Given the description of an element on the screen output the (x, y) to click on. 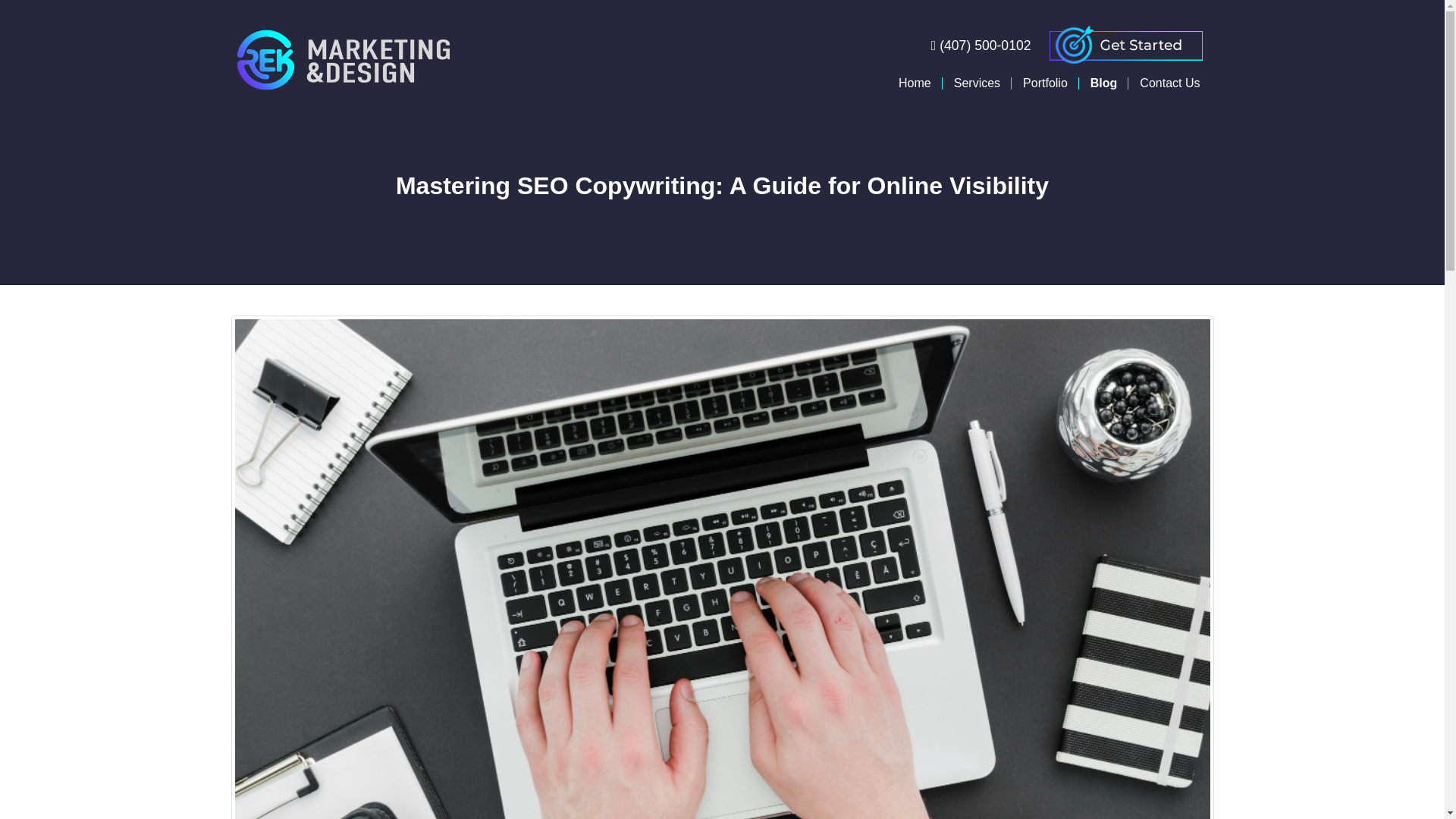
Contact Us (1169, 82)
Services (976, 82)
Home (914, 82)
Blog (1103, 82)
Services (976, 82)
Contact Us (1169, 82)
Portfolio (1044, 82)
Home (914, 82)
Blog (1103, 82)
Portfolio (1044, 82)
